Given the description of an element on the screen output the (x, y) to click on. 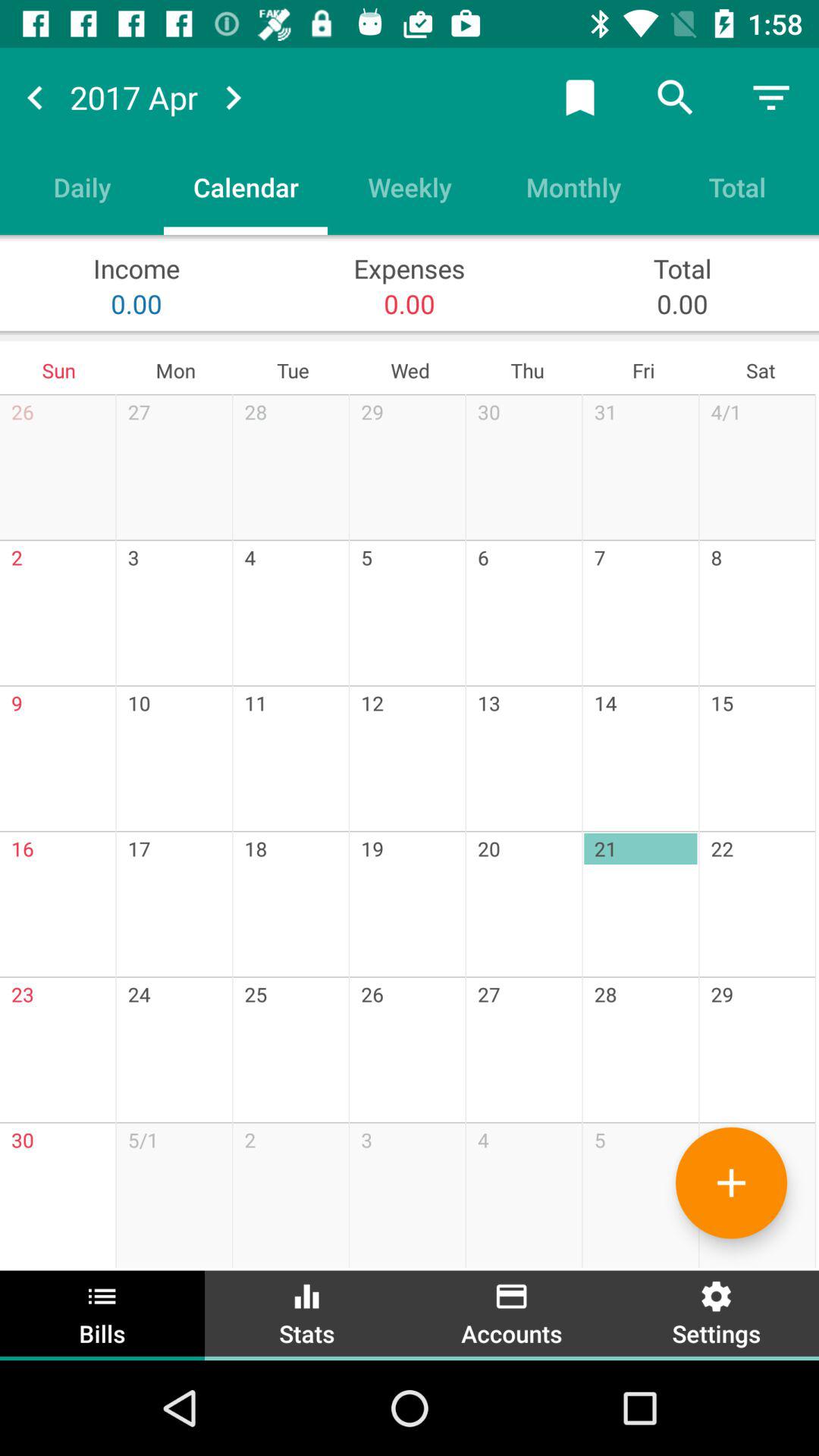
turn on monthly (573, 186)
